Given the description of an element on the screen output the (x, y) to click on. 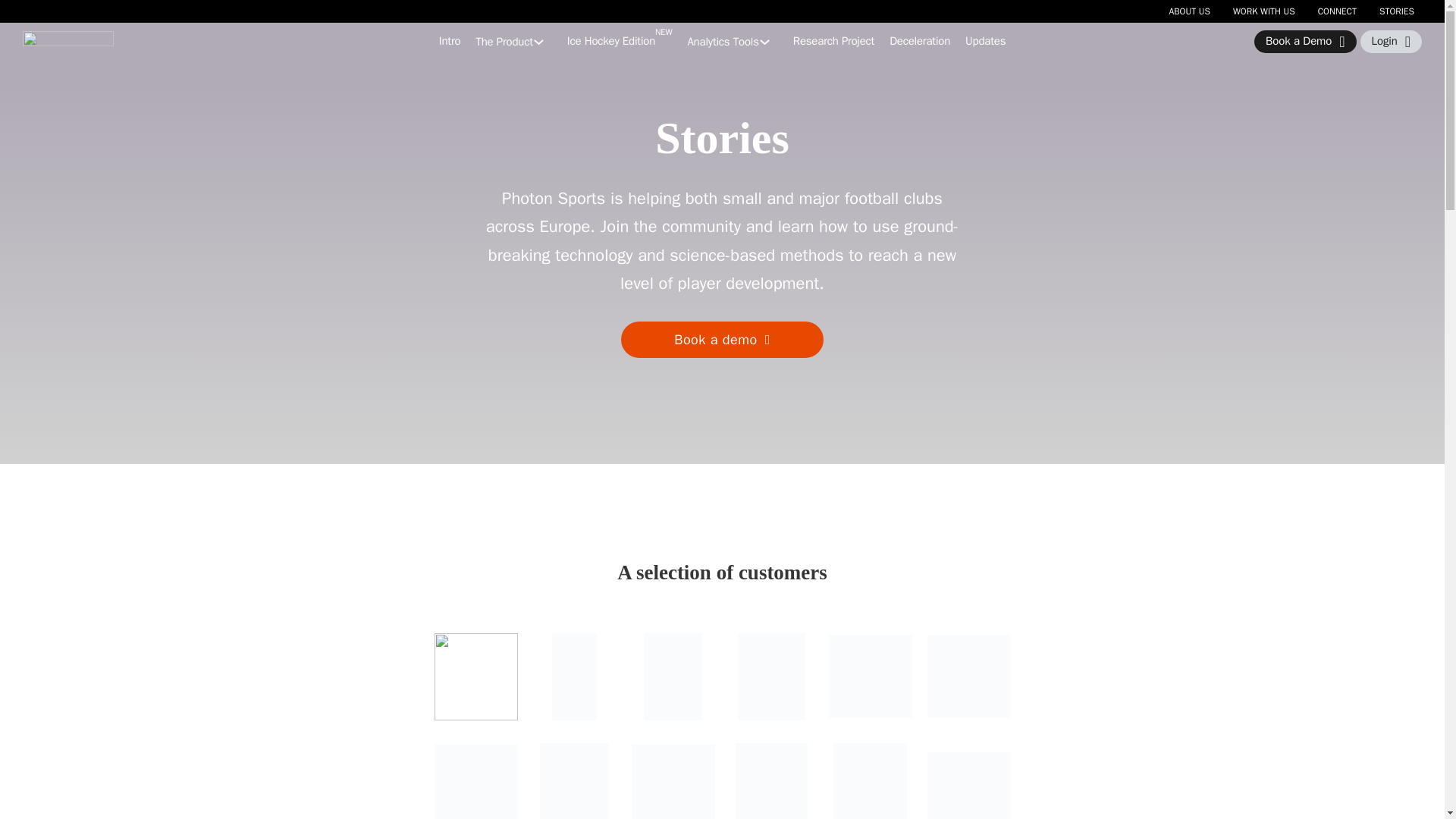
ABOUT US (1189, 11)
STORIES (1395, 11)
WORK WITH US (1264, 11)
Intro (450, 40)
Updates (619, 40)
Analytics Tools (985, 40)
Deceleration (722, 40)
CONNECT (919, 40)
The Product (1336, 11)
